Given the description of an element on the screen output the (x, y) to click on. 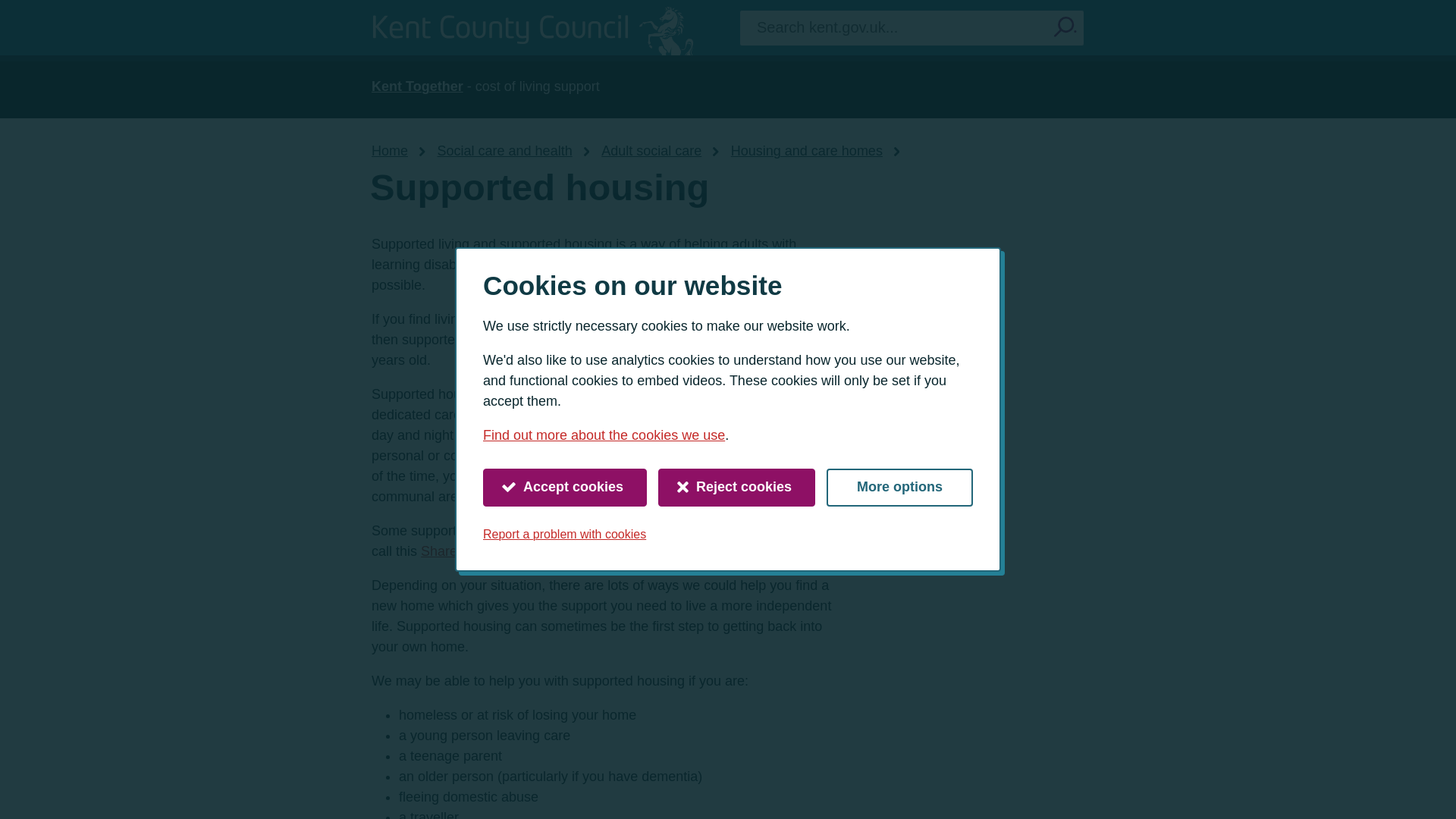
Kent Together (417, 86)
Adult social care (651, 150)
Housing and care homes (806, 150)
Report a problem with cookies (564, 533)
Find out more about the cookies we use (604, 435)
Social care and health (505, 150)
Accept cookies (564, 487)
More options (899, 487)
Search (1065, 27)
Shared Lives (460, 550)
